Given the description of an element on the screen output the (x, y) to click on. 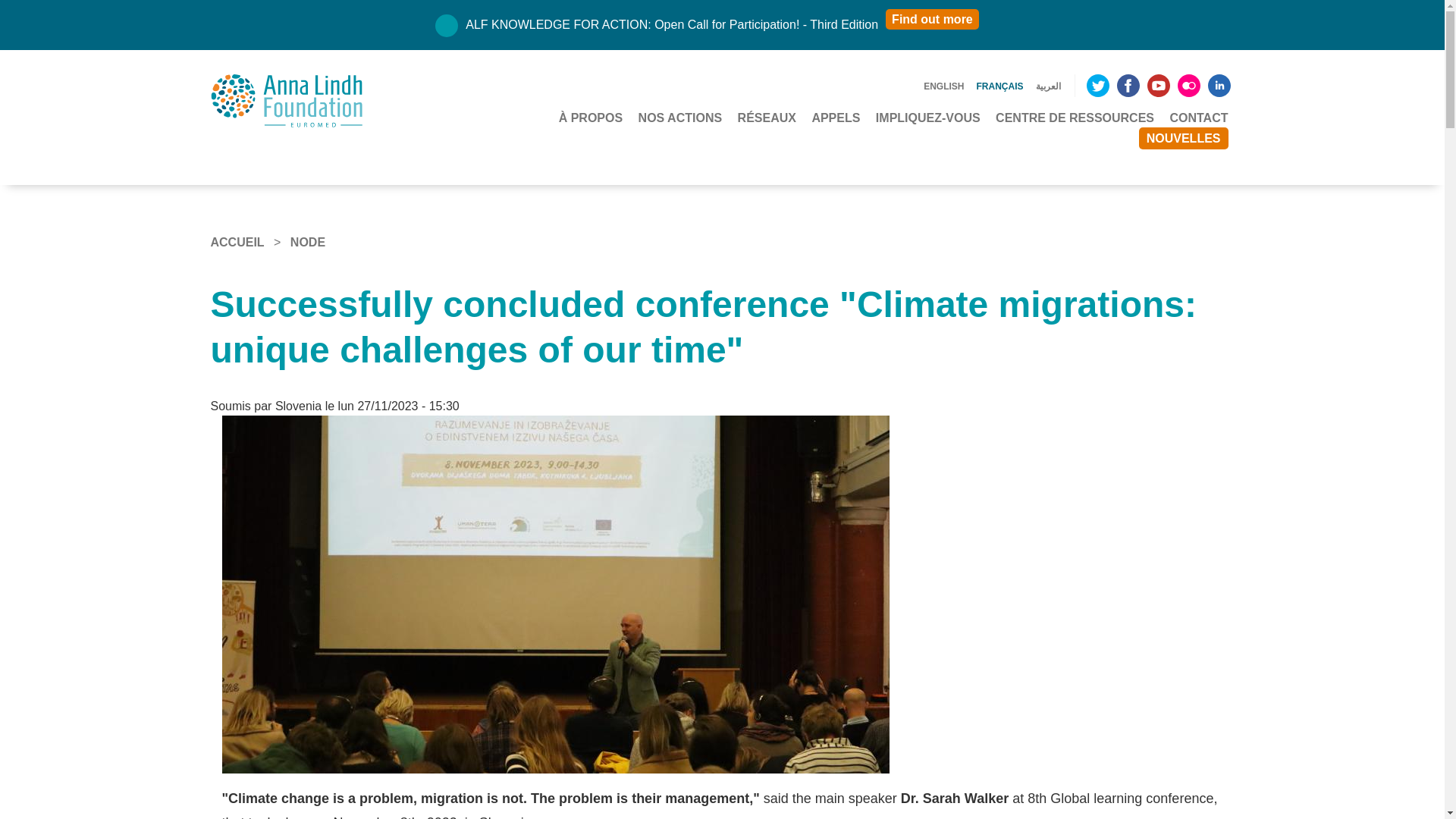
Find out more (931, 19)
NOS ACTIONS (680, 117)
APPELS (835, 117)
IMPLIQUEZ-VOUS (927, 117)
CENTRE DE RESSOURCES (1074, 117)
